Given the description of an element on the screen output the (x, y) to click on. 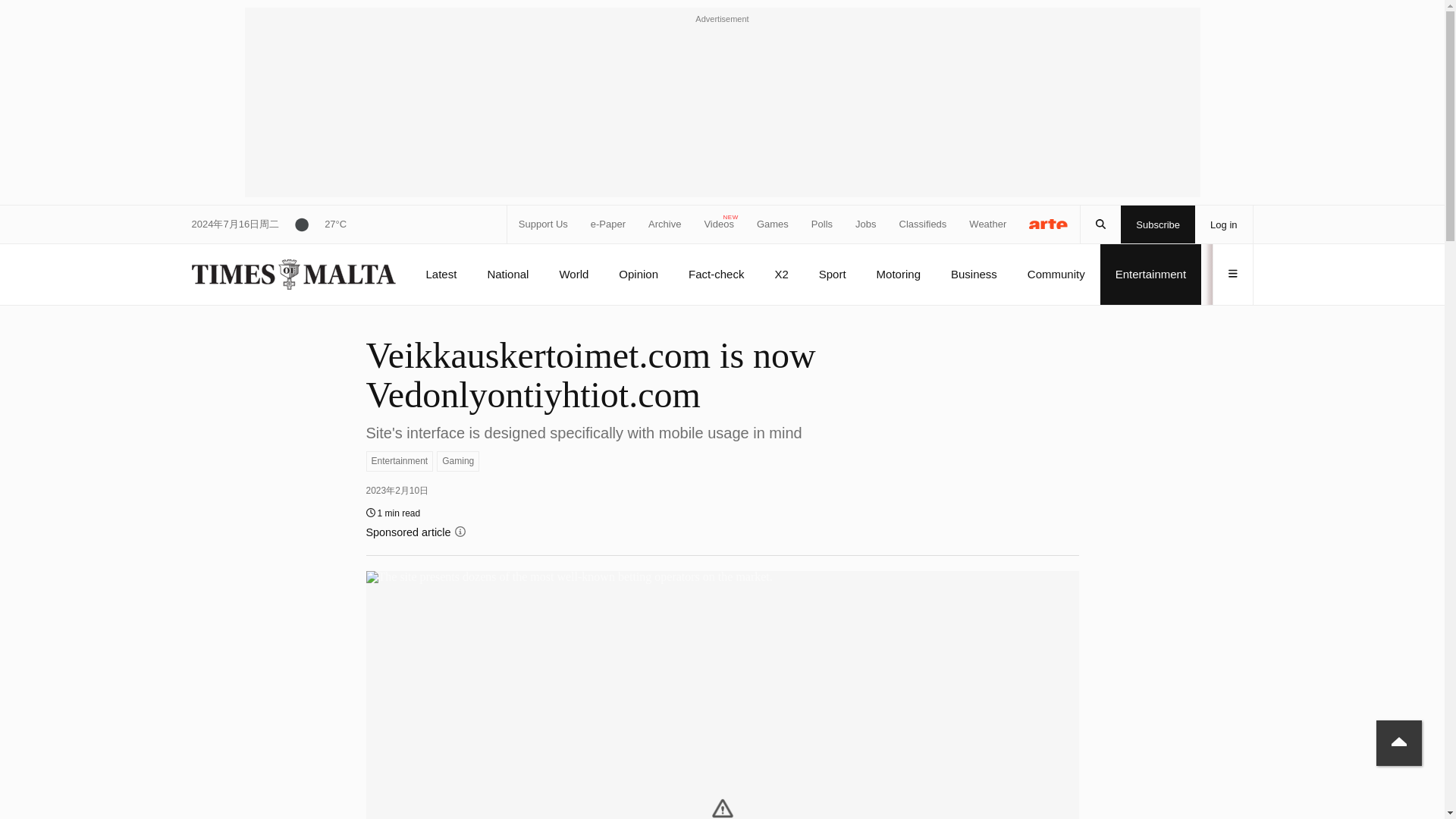
Entertainment (398, 461)
Community (1055, 274)
Fact-check (716, 274)
Weather (987, 224)
Classifieds (923, 224)
Entertainment (1150, 274)
Subscribe (1158, 224)
e-Paper (608, 224)
ARTE (1048, 223)
Additional weather information (312, 224)
Log in (1223, 224)
Gaming (457, 461)
